Given the description of an element on the screen output the (x, y) to click on. 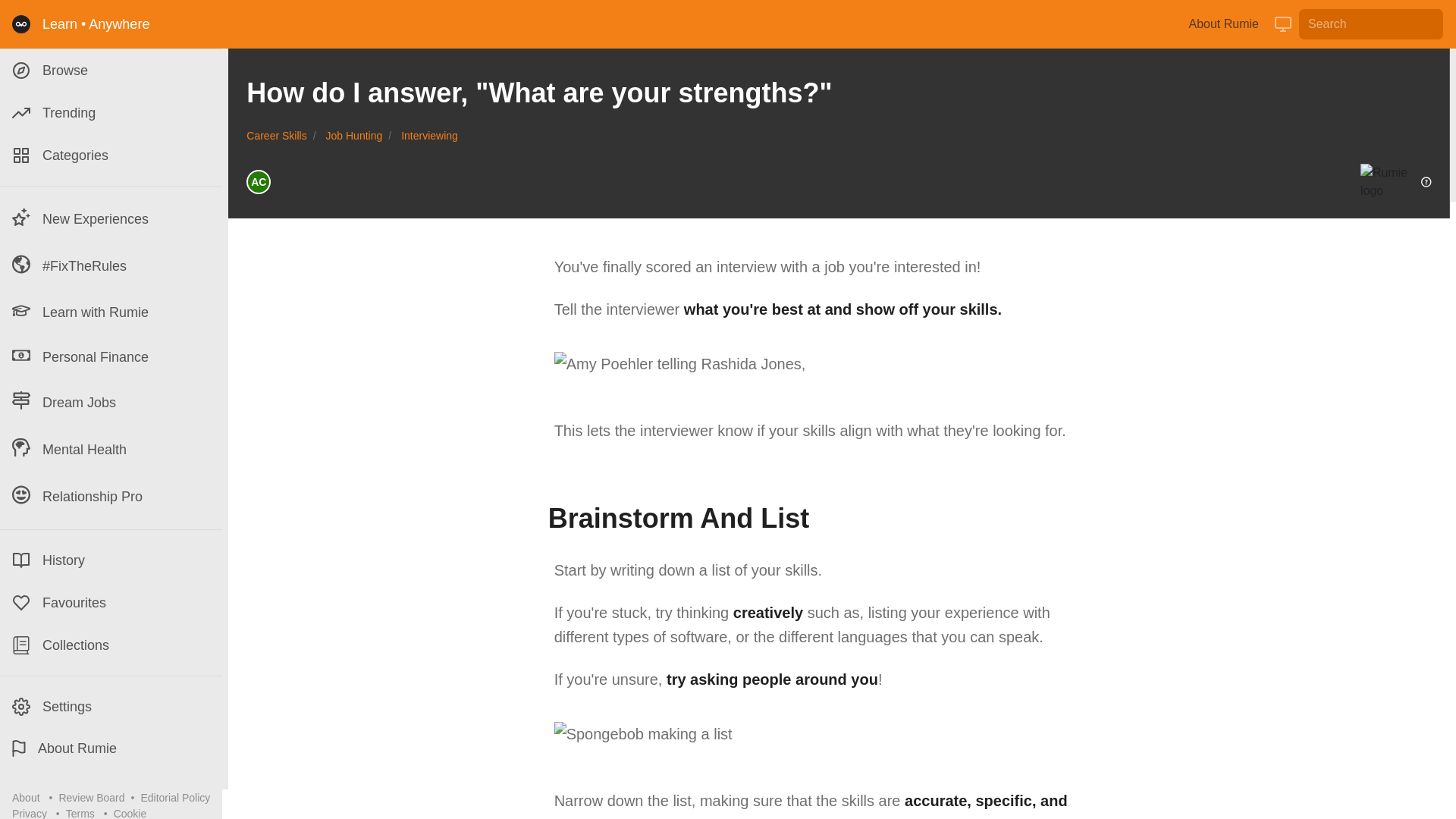
Learn with Rumie (111, 311)
History (111, 559)
Favourites (111, 602)
Relationship Pro (111, 496)
Mental Health (111, 449)
About Rumie (111, 748)
Career Skills (275, 135)
Collections (111, 645)
Browse (111, 70)
Dream Jobs (111, 402)
Categories (111, 155)
Settings (111, 706)
Review Board (90, 797)
Editorial Policy (174, 797)
About (25, 797)
